Given the description of an element on the screen output the (x, y) to click on. 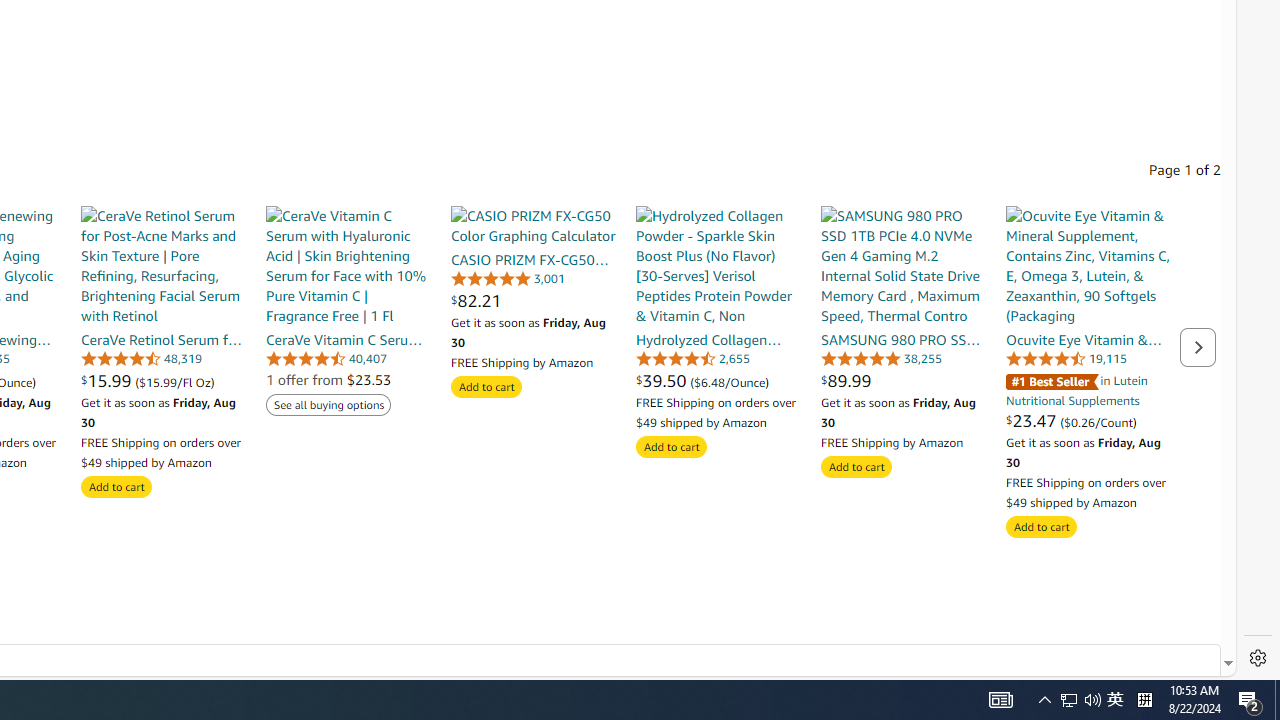
Add to cart (1041, 526)
$23.47  (1033, 420)
Next page (1198, 346)
CASIO PRIZM FX-CG50 Color Graphing Calculator (532, 225)
1 offer from $23.53 (328, 379)
